Given the description of an element on the screen output the (x, y) to click on. 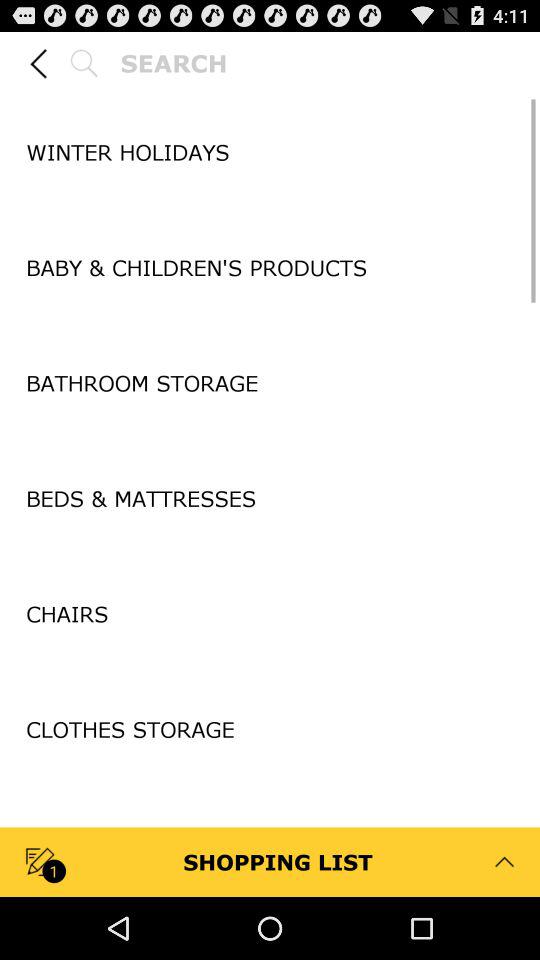
launch the item above the chairs (270, 557)
